Given the description of an element on the screen output the (x, y) to click on. 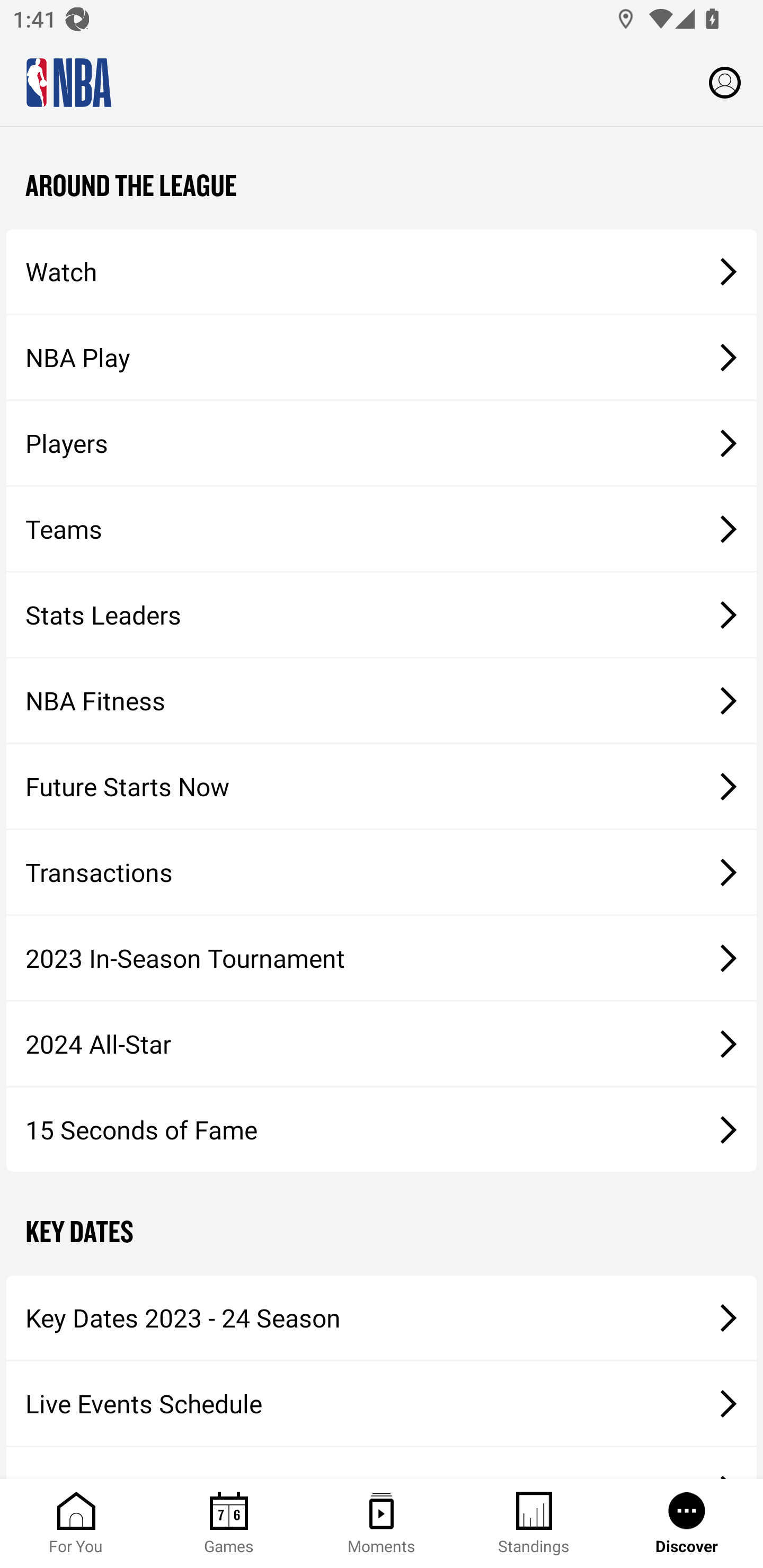
Profile (724, 81)
Watch (381, 270)
NBA Play (381, 357)
Players (381, 442)
Teams (381, 528)
Stats Leaders (381, 614)
NBA Fitness (381, 700)
Future Starts Now (381, 785)
Transactions (381, 871)
2023 In-Season Tournament (381, 957)
2024 All-Star (381, 1043)
15 Seconds of Fame (381, 1129)
Key Dates 2023 - 24 Season (381, 1317)
Live Events Schedule (381, 1403)
For You (76, 1523)
Games (228, 1523)
Moments (381, 1523)
Standings (533, 1523)
